Given the description of an element on the screen output the (x, y) to click on. 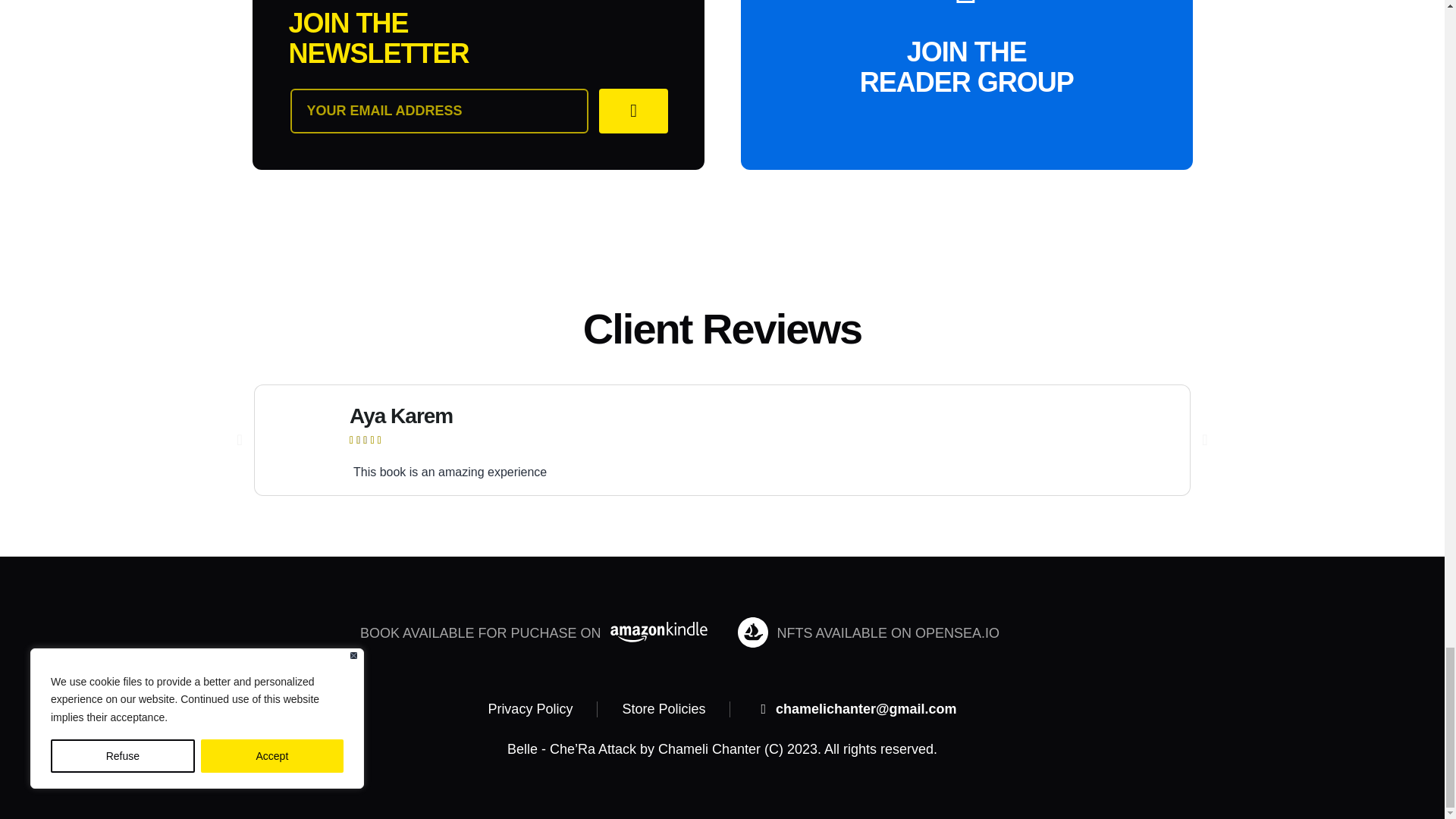
Store Policies (662, 709)
Privacy Policy (529, 709)
